Given the description of an element on the screen output the (x, y) to click on. 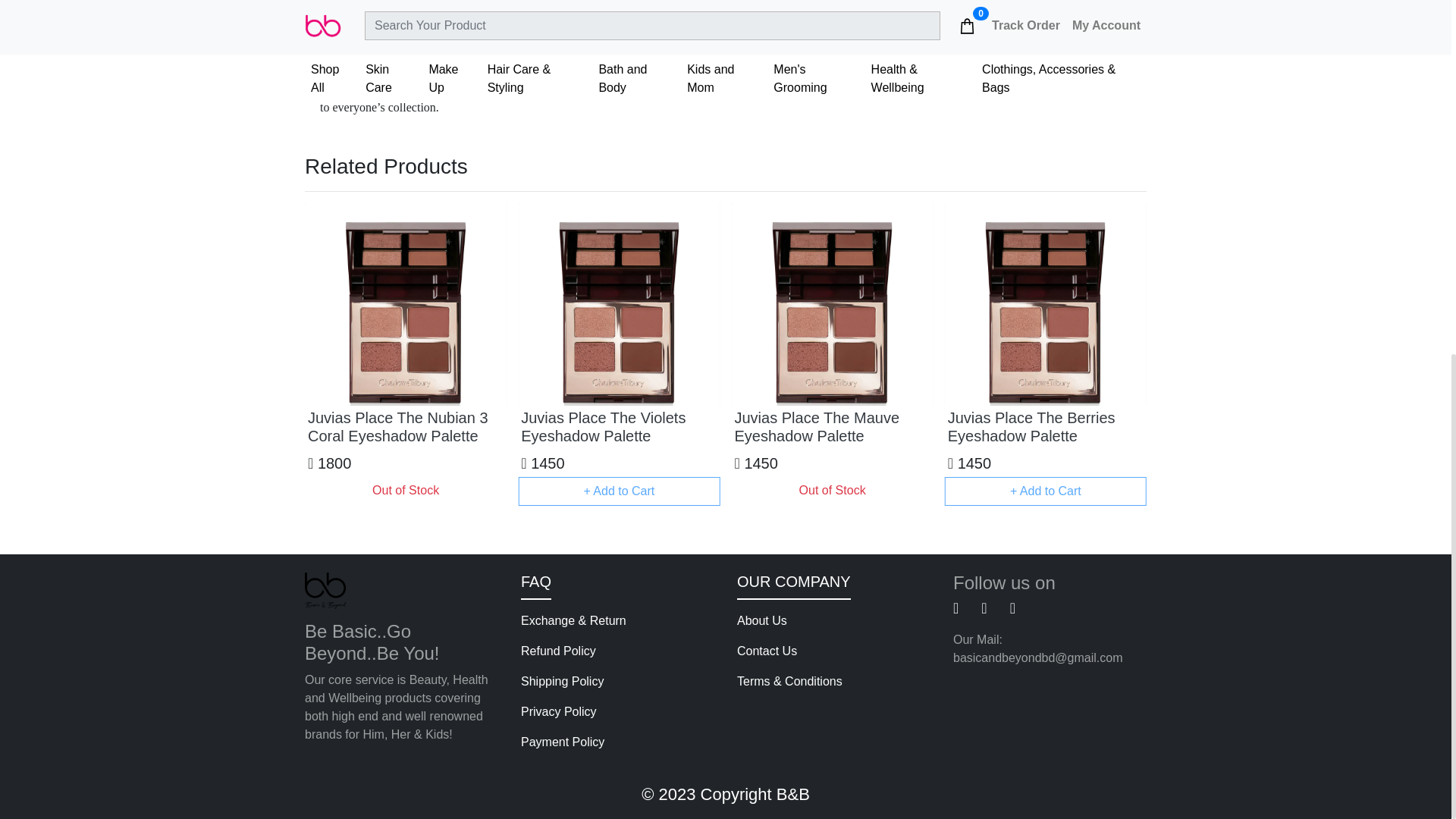
Buy Now (770, 2)
Juvias Place The Violets Eyeshadow Palette (618, 426)
Juvias Place The Berries Eyeshadow Palette (1044, 426)
Juvias Place The Nubian 3 Coral Eyeshadow Palette (405, 426)
Juvias Place The Mauve Eyeshadow Palette (831, 426)
